Given the description of an element on the screen output the (x, y) to click on. 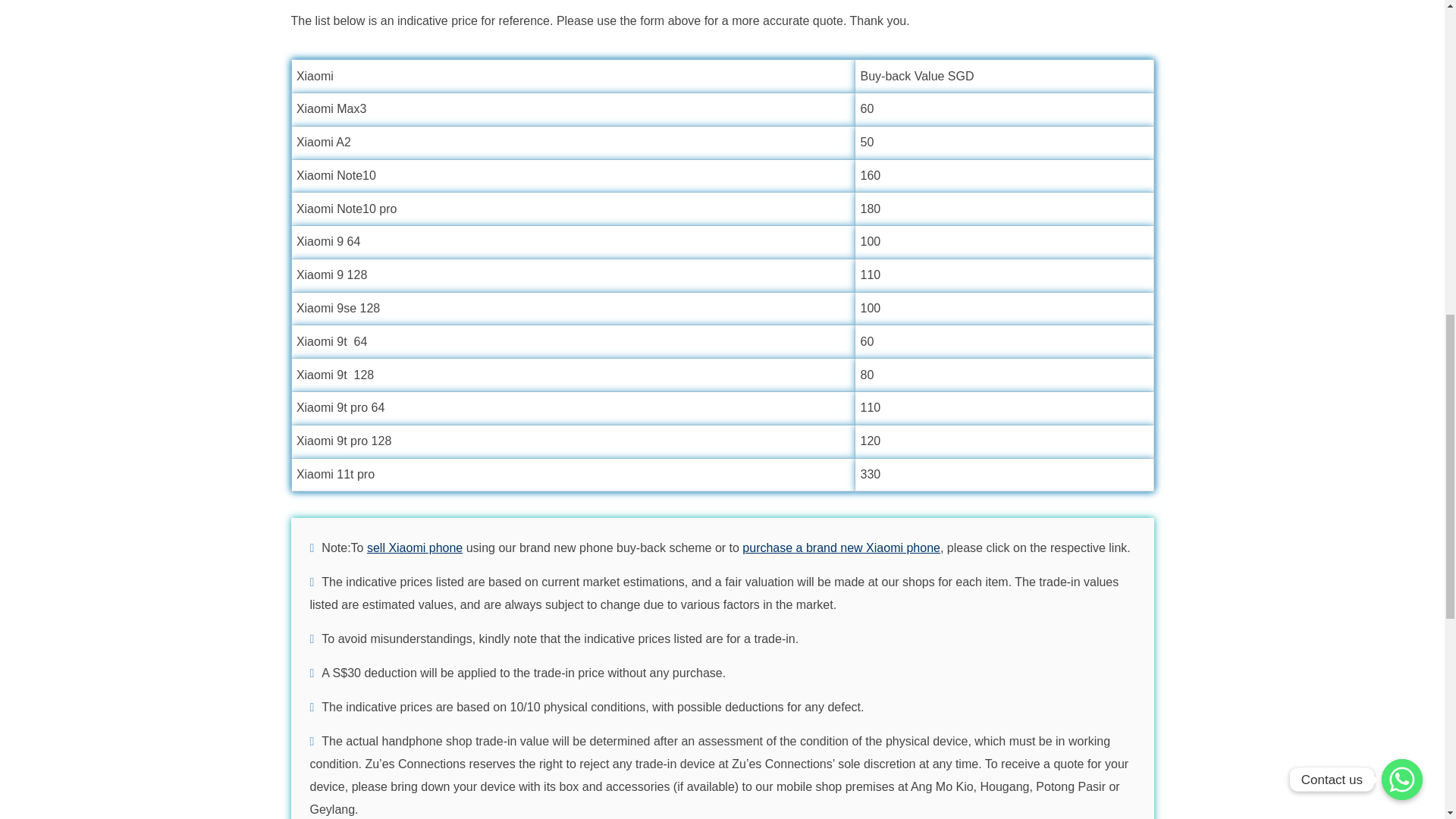
purchase a brand new Xiaomi phone (841, 547)
sell Xiaomi phone (414, 547)
